Given the description of an element on the screen output the (x, y) to click on. 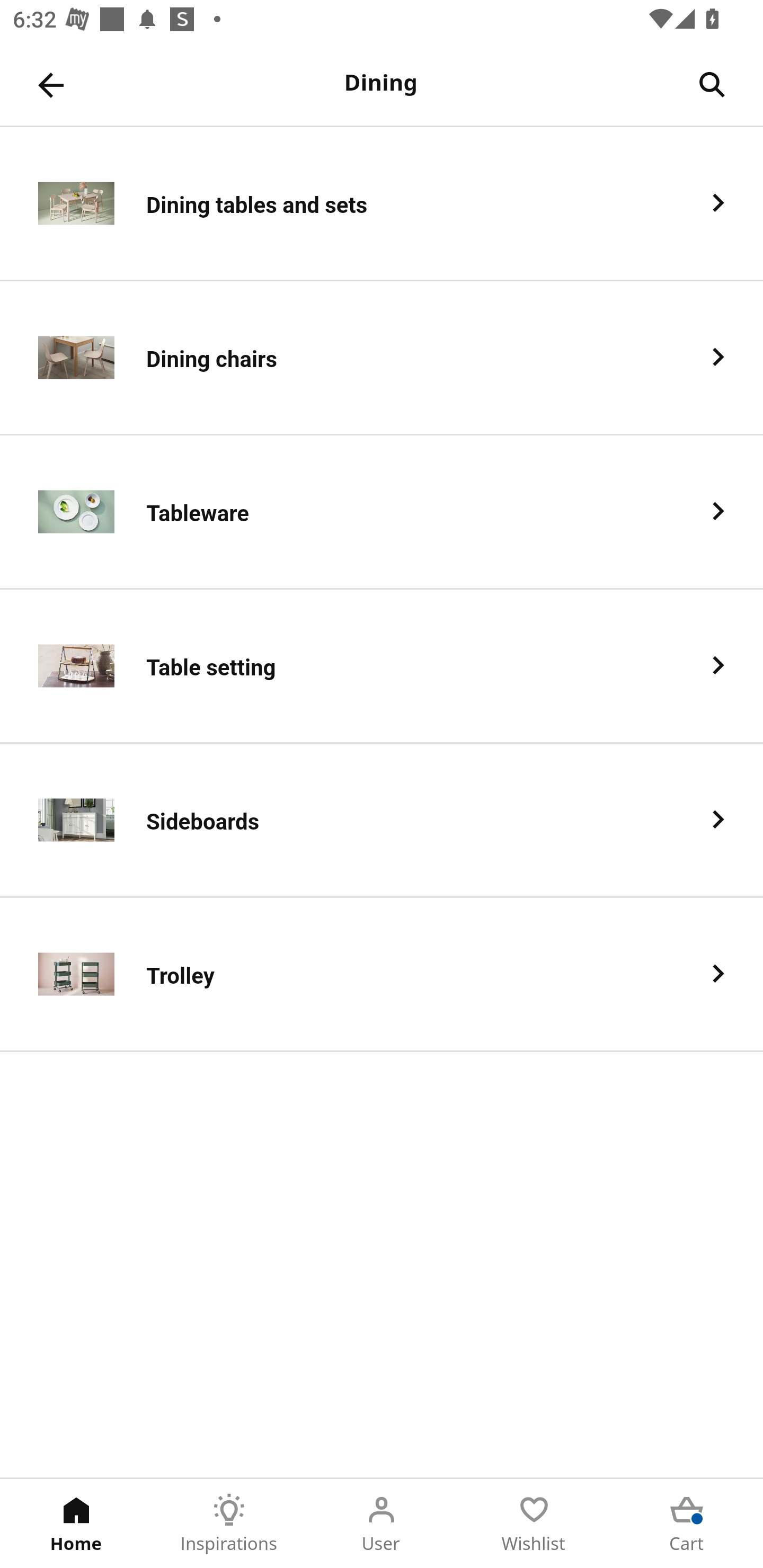
Dining tables and sets (381, 203)
Dining chairs (381, 357)
Tableware (381, 512)
Table setting (381, 666)
Sideboards (381, 820)
Trolley (381, 975)
Home
Tab 1 of 5 (76, 1522)
Inspirations
Tab 2 of 5 (228, 1522)
User
Tab 3 of 5 (381, 1522)
Wishlist
Tab 4 of 5 (533, 1522)
Cart
Tab 5 of 5 (686, 1522)
